Given the description of an element on the screen output the (x, y) to click on. 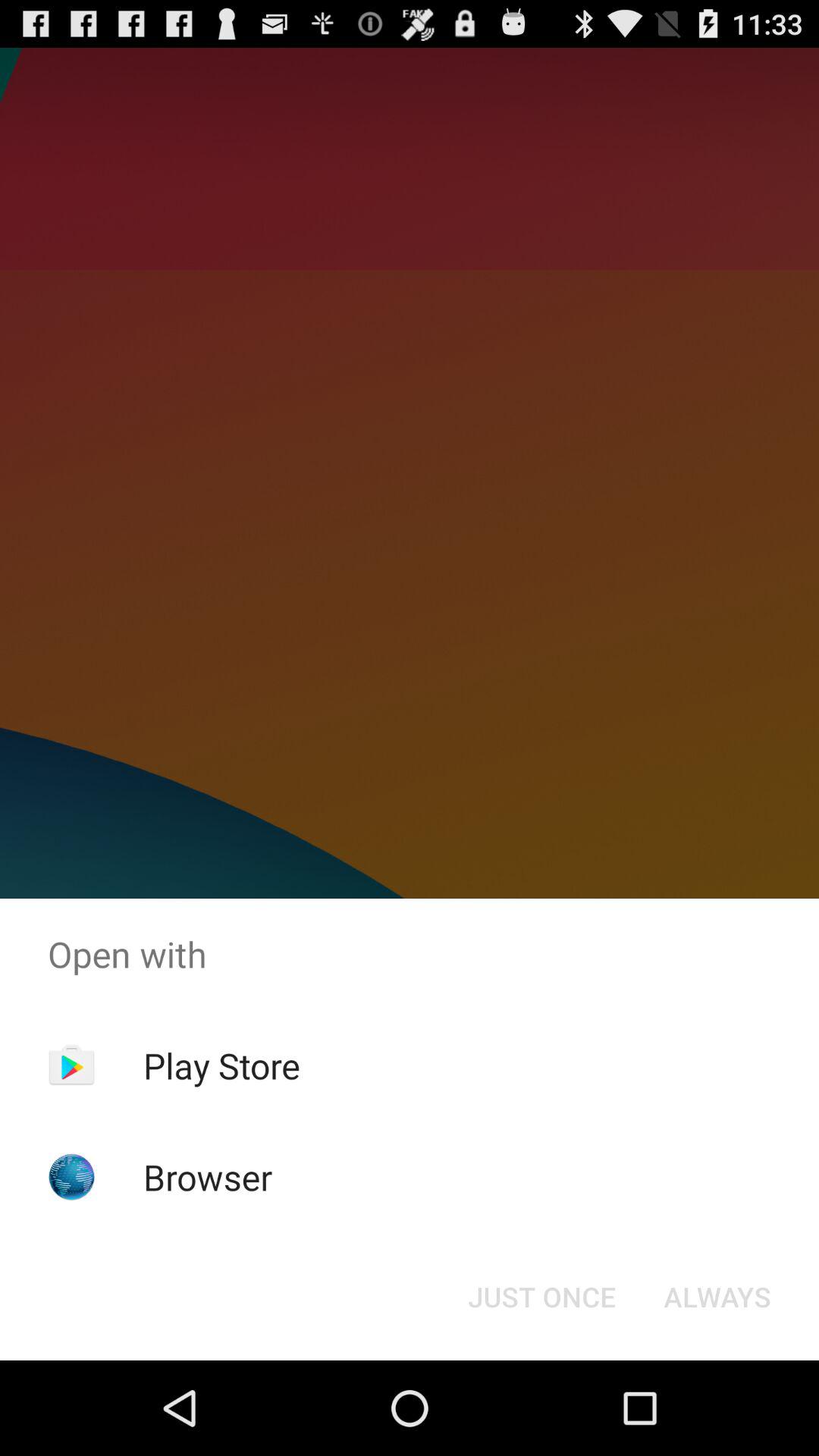
swipe until the browser (207, 1176)
